Given the description of an element on the screen output the (x, y) to click on. 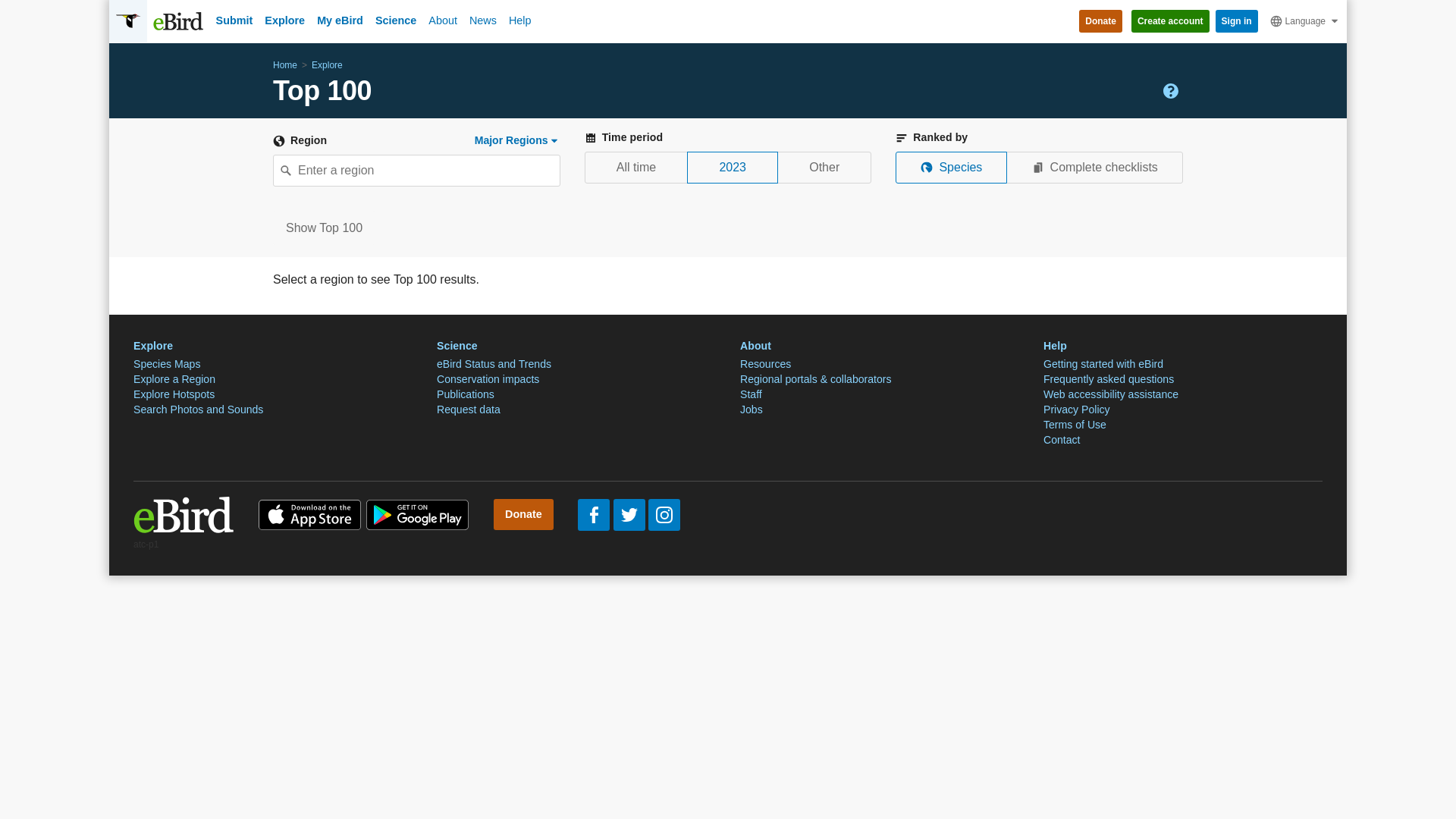
Submit (234, 20)
About (442, 20)
Get it on Google Play (416, 514)
eBird logo (183, 514)
Download on the App Store (309, 514)
News (482, 20)
Major Regions (517, 140)
About Top 100 (1170, 90)
Language (1304, 21)
Explore (285, 20)
Help (519, 20)
Explore (326, 65)
Science (395, 20)
Sign in (1236, 20)
Donate (1100, 20)
